Given the description of an element on the screen output the (x, y) to click on. 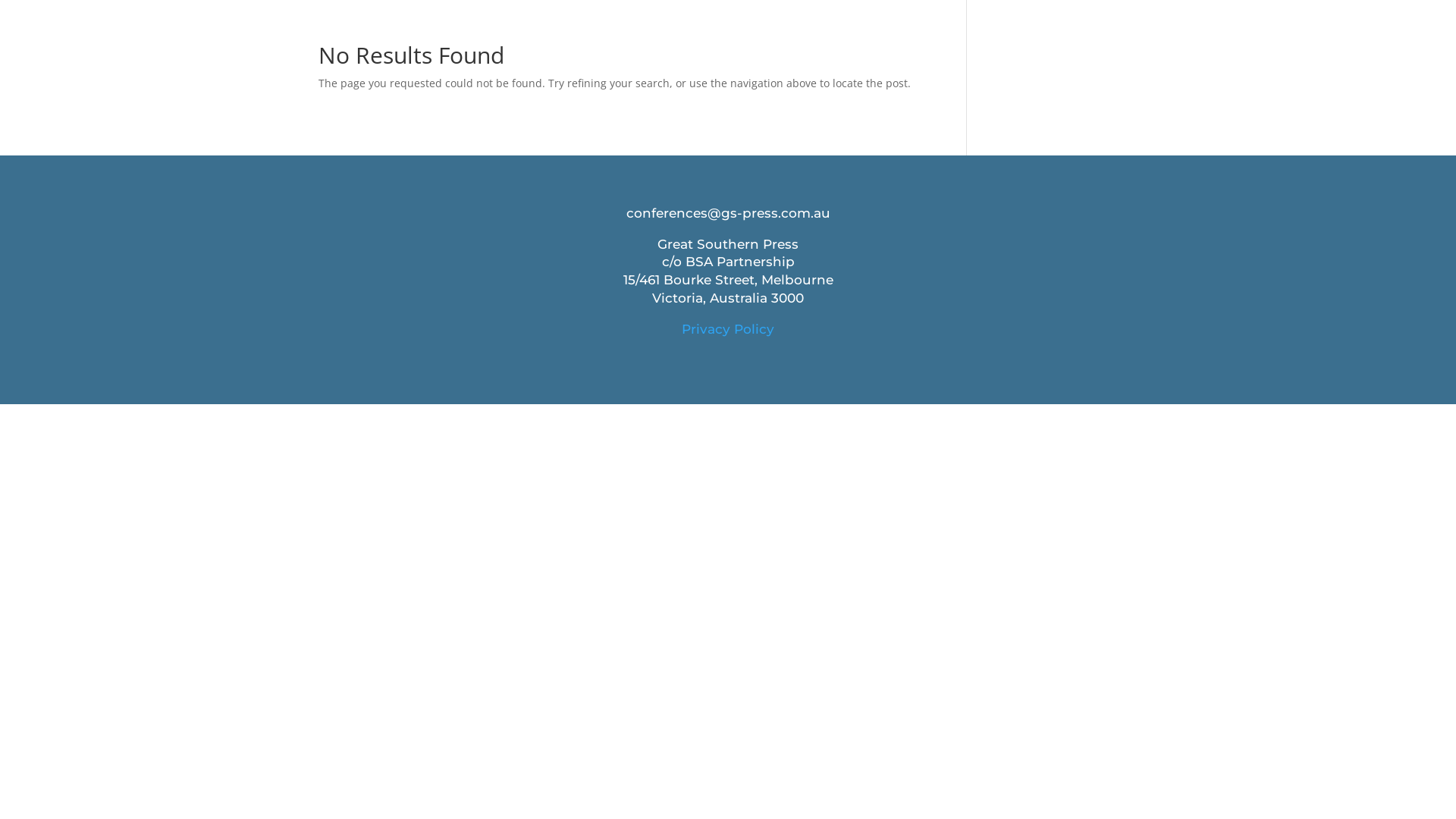
Privacy Policy Element type: text (727, 328)
conferences@gs-press.com.au Element type: text (728, 212)
